Given the description of an element on the screen output the (x, y) to click on. 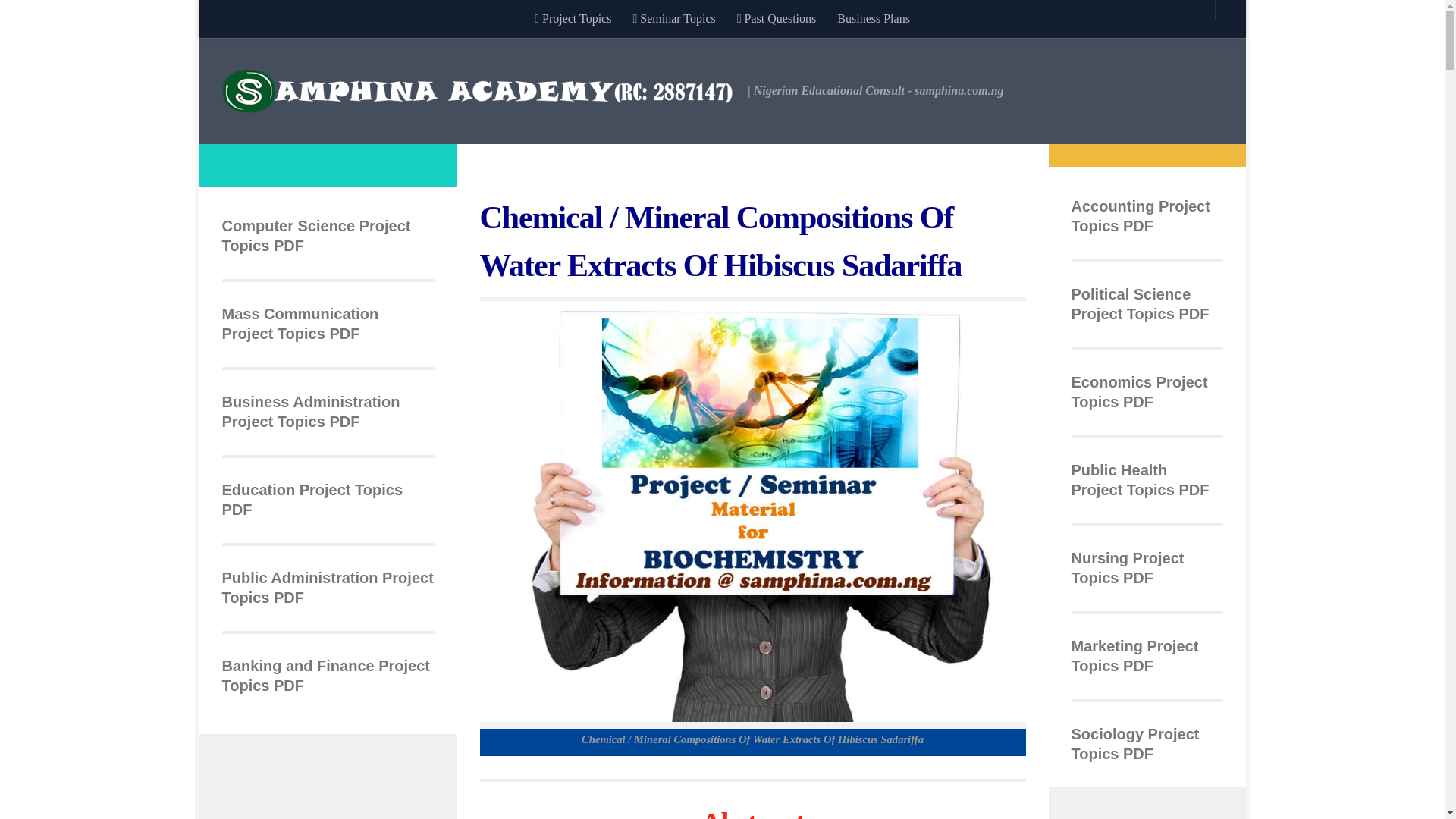
Skip to content (258, 20)
Business Plans (873, 18)
